Given the description of an element on the screen output the (x, y) to click on. 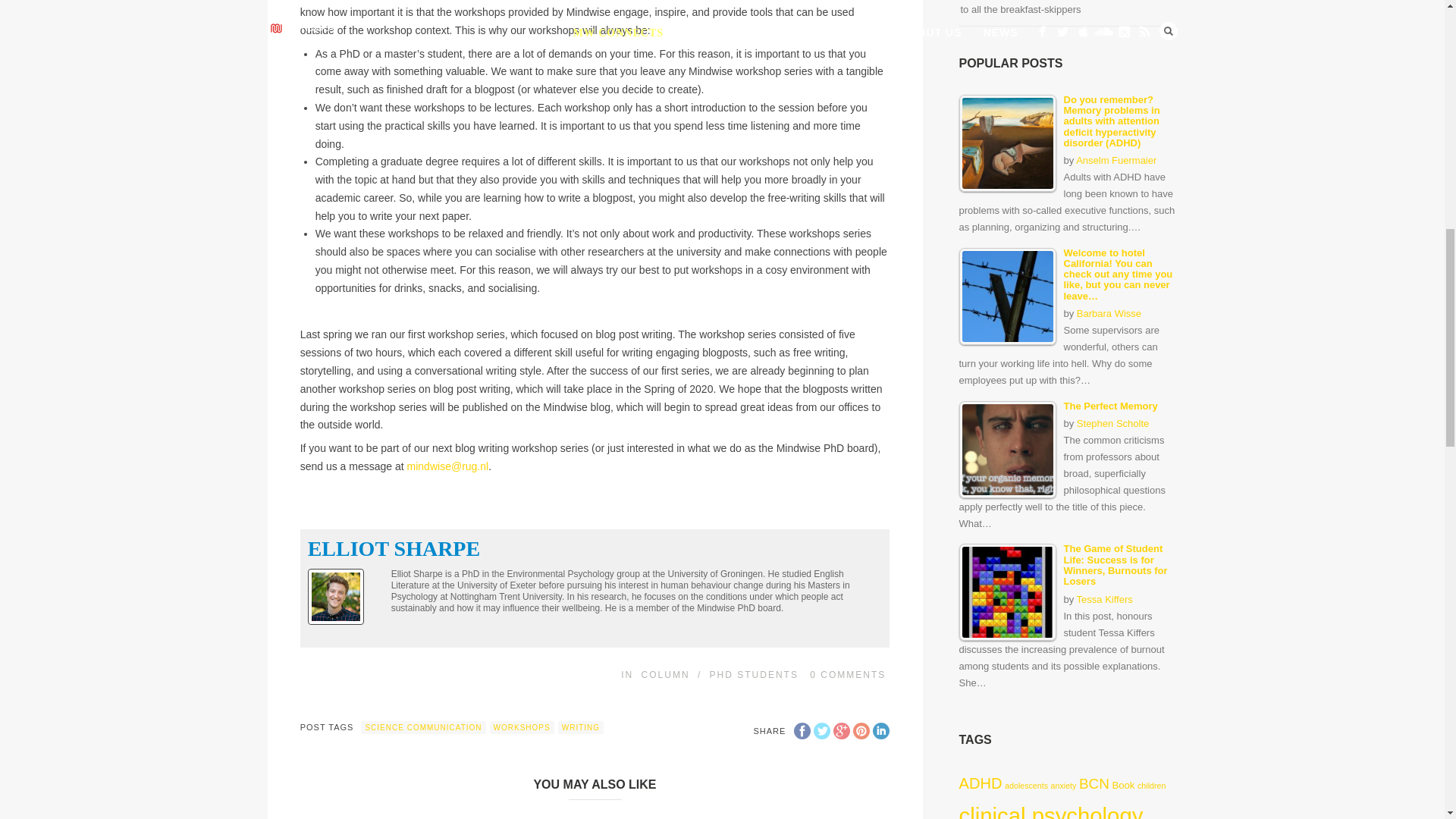
LinkedIn (880, 730)
PHD STUDENTS (753, 674)
Elliot Sharpe (393, 548)
Twitter (821, 730)
ELLIOT SHARPE (393, 548)
Pinterest (861, 730)
Facebook (801, 730)
0 COMMENTS (847, 674)
WORKSHOPS (521, 727)
COLUMN (666, 674)
